Given the description of an element on the screen output the (x, y) to click on. 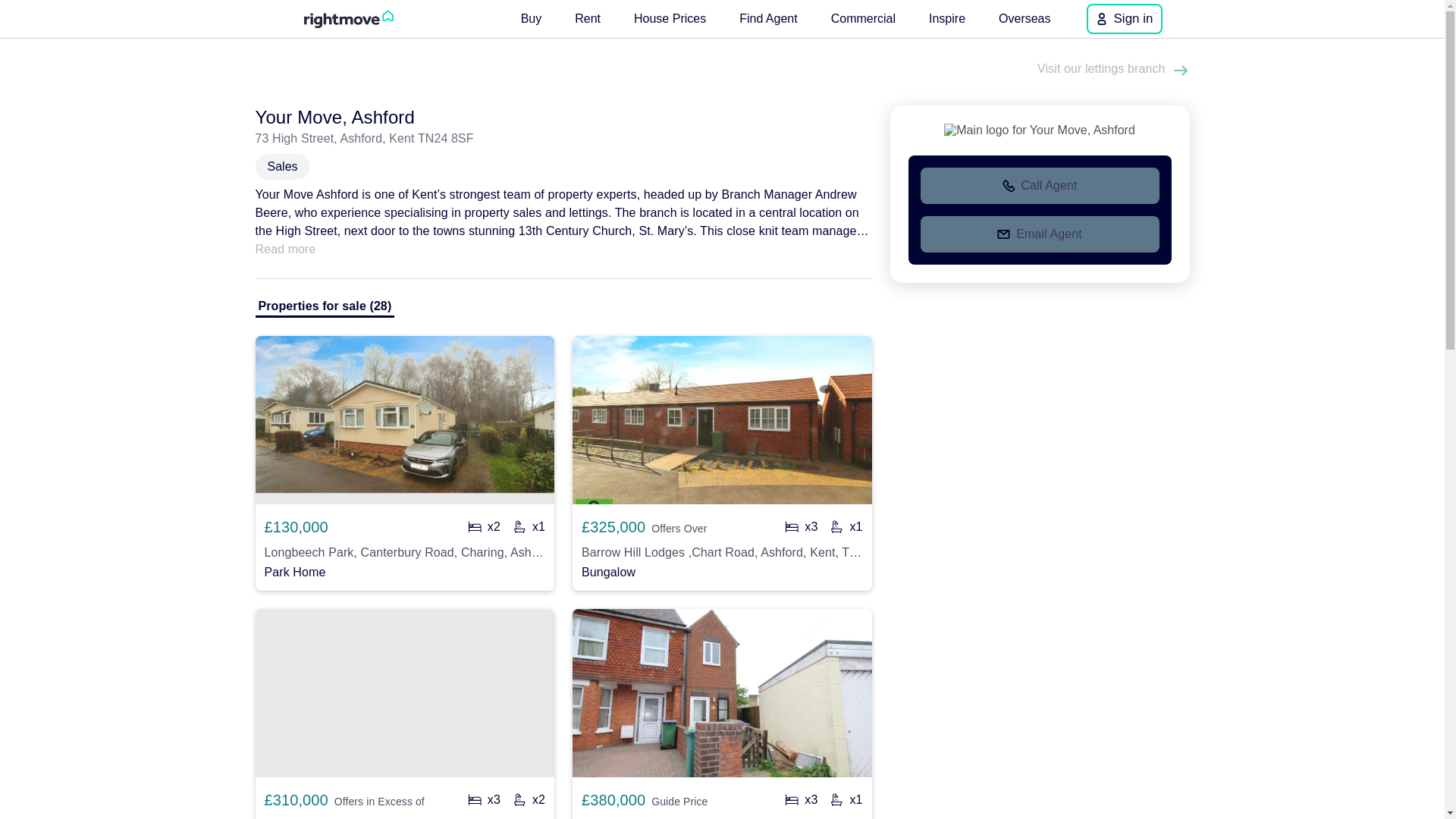
Inspire (947, 18)
Overseas (1024, 18)
Find Agent (768, 18)
House Prices (669, 18)
Commercial (863, 18)
Rent (588, 18)
Buy (531, 18)
